Given the description of an element on the screen output the (x, y) to click on. 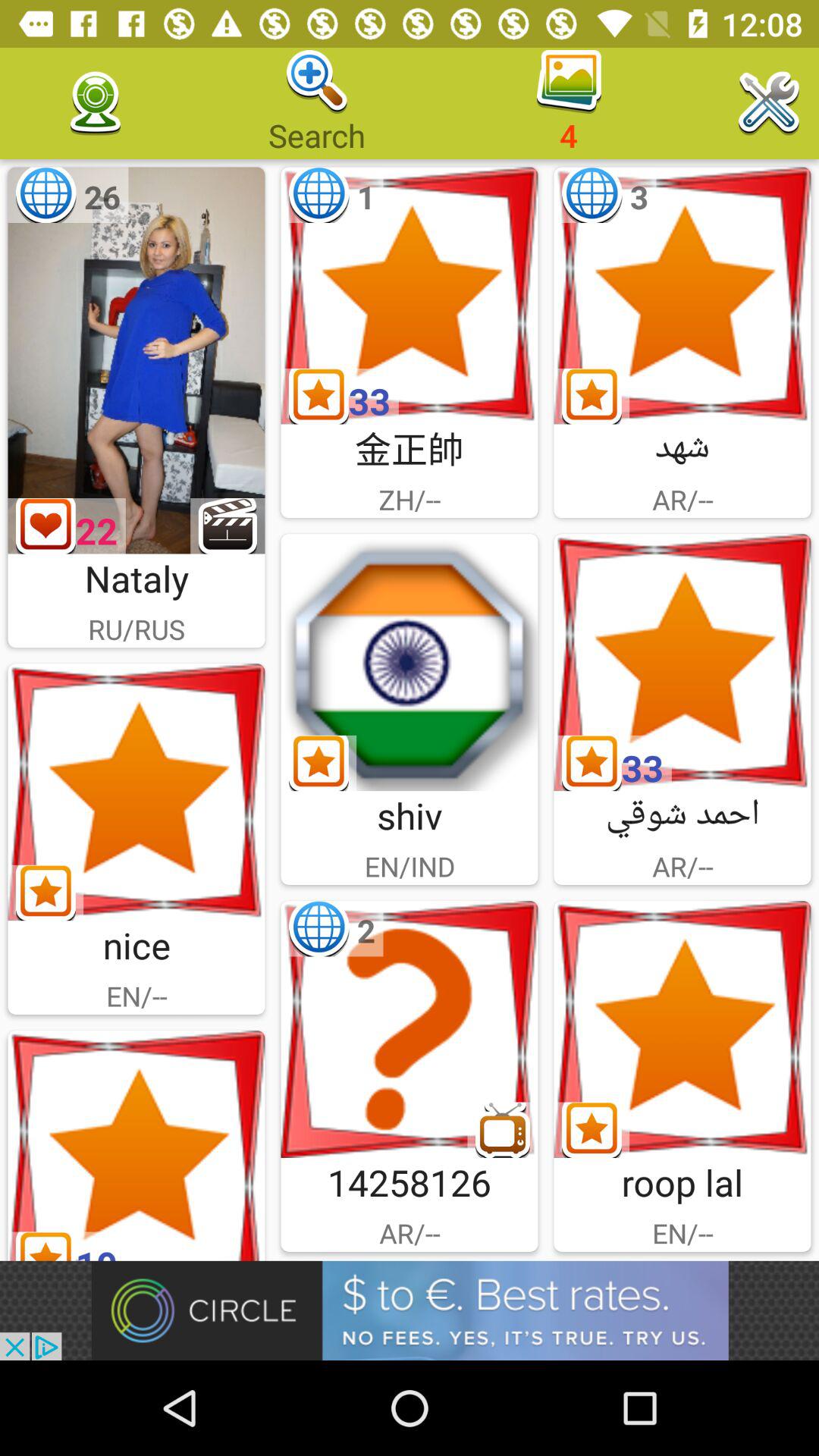
select the icon (409, 1028)
